Given the description of an element on the screen output the (x, y) to click on. 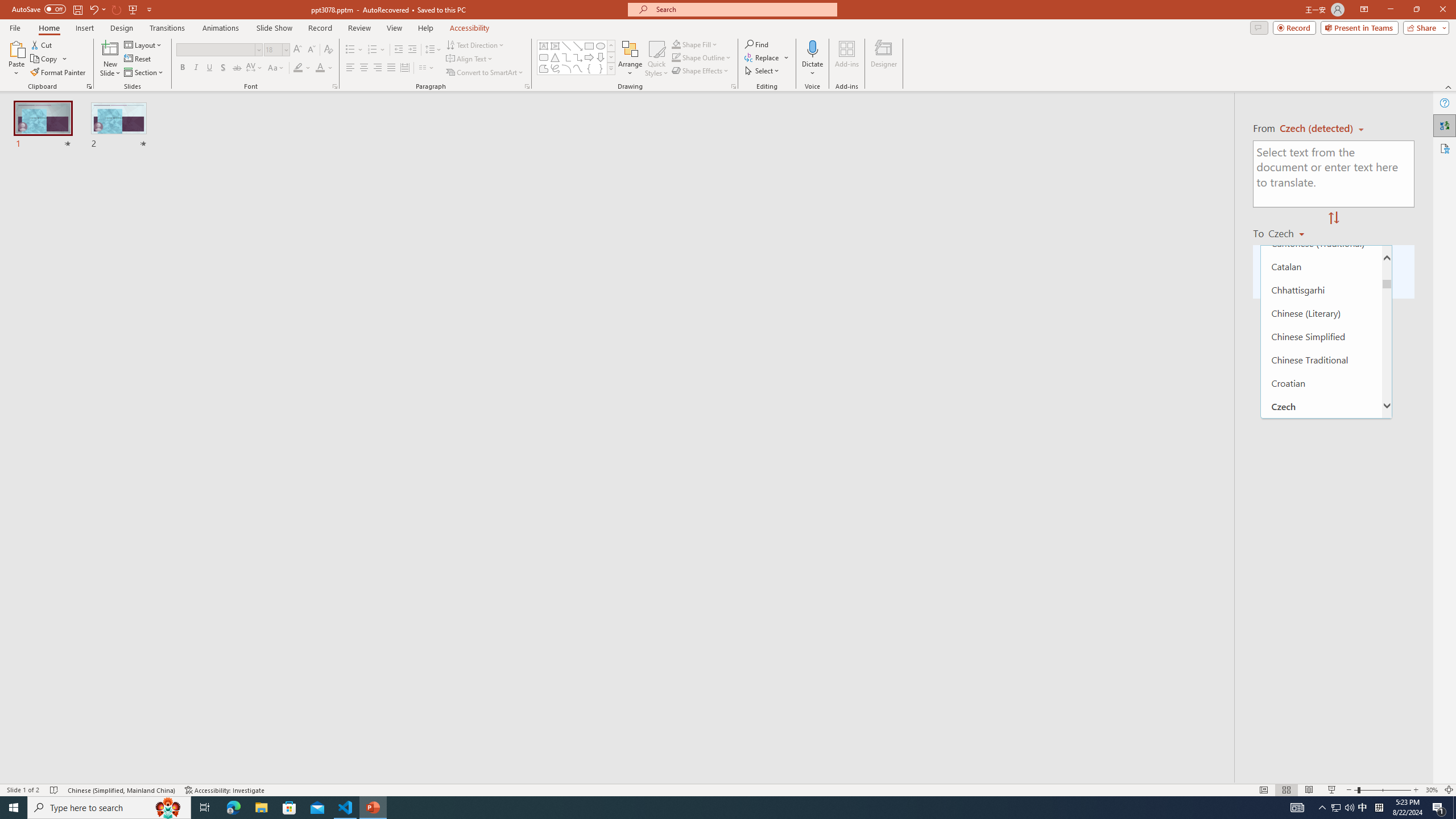
Dutch (1320, 522)
Ganda (1320, 755)
Bulgarian (1320, 219)
